Given the description of an element on the screen output the (x, y) to click on. 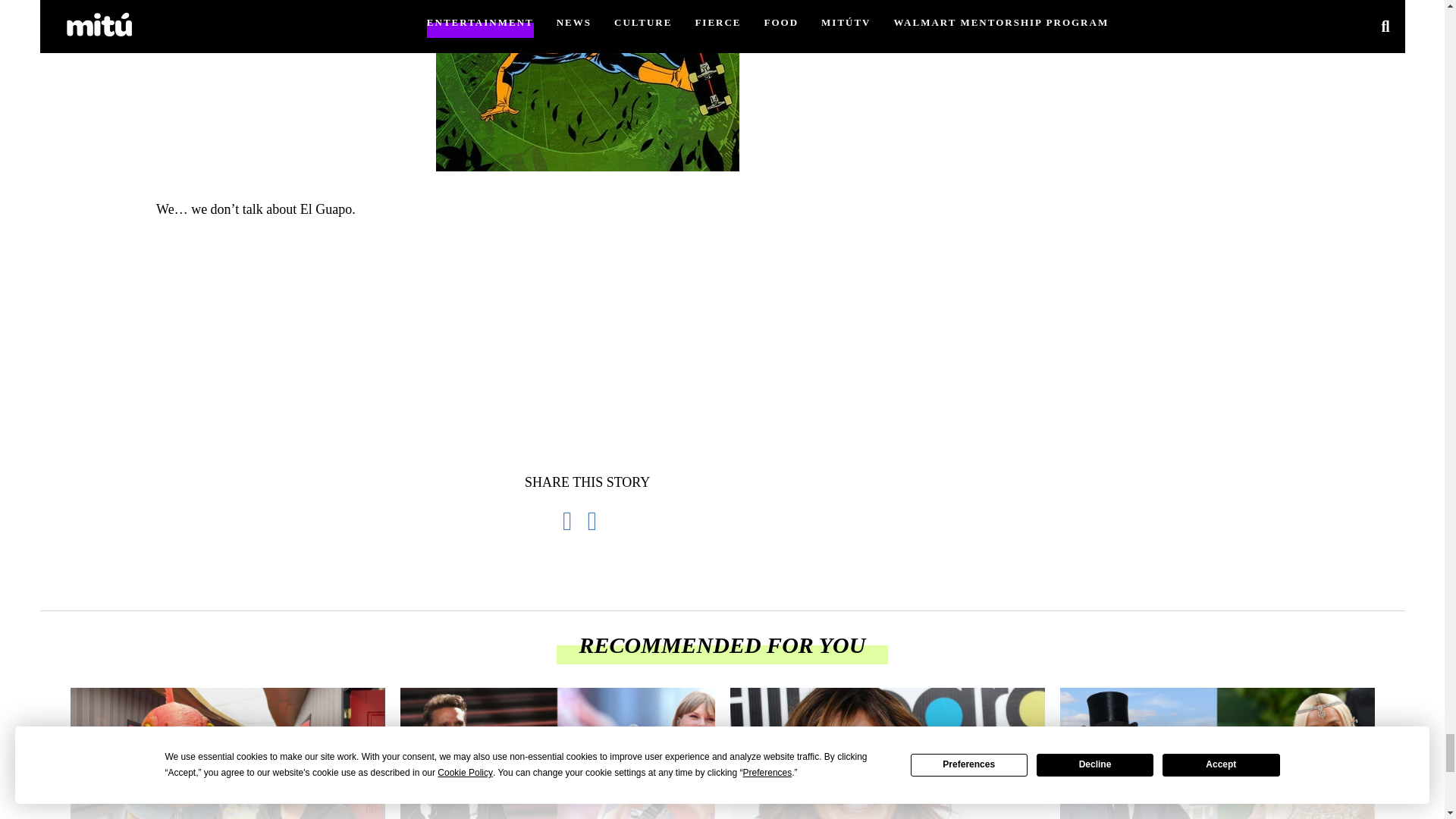
Share on Facebook (575, 520)
Share via Email (600, 520)
